Given the description of an element on the screen output the (x, y) to click on. 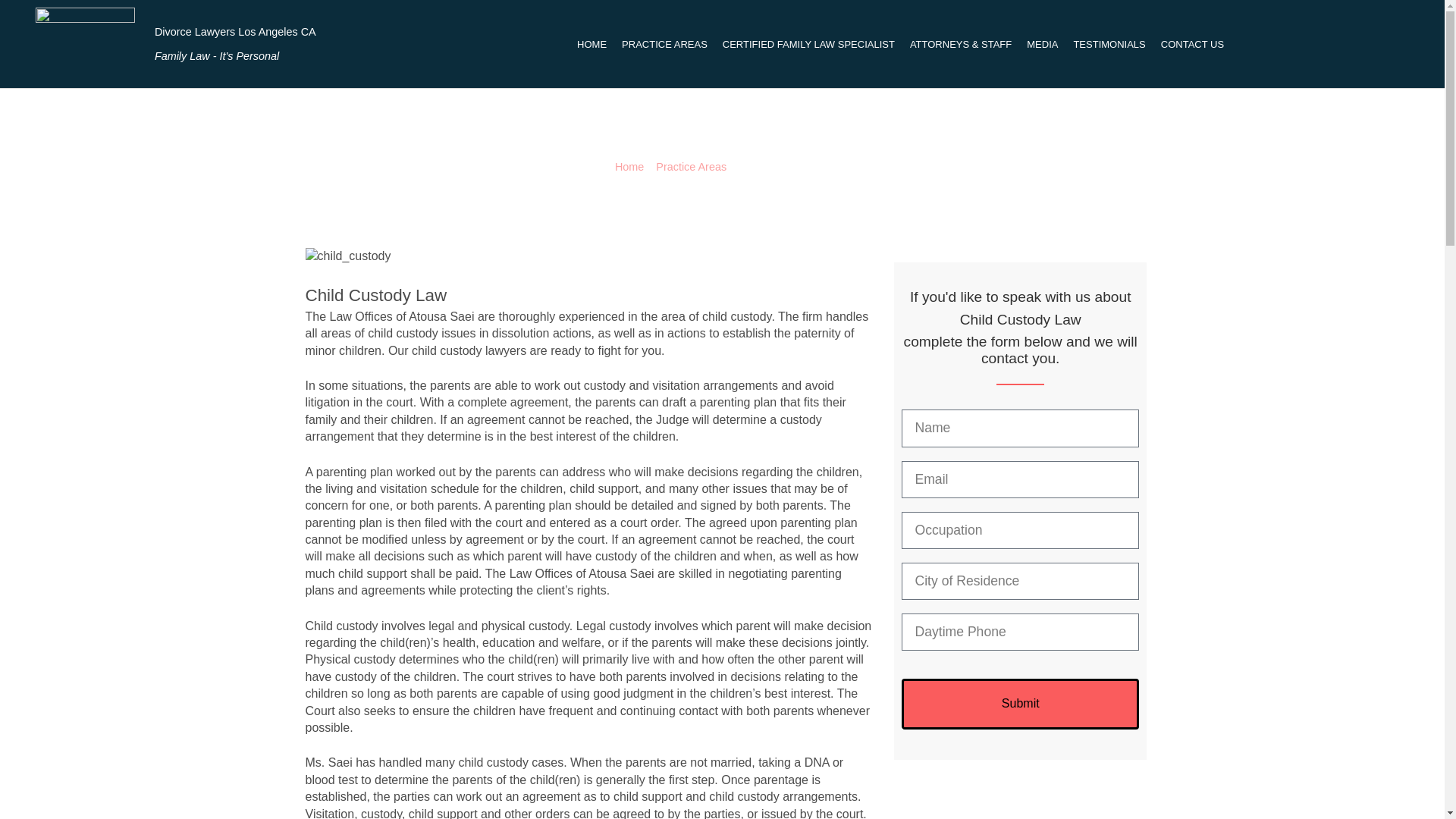
CONTACT US (1192, 44)
CERTIFIED FAMILY LAW SPECIALIST (808, 44)
PRACTICE AREAS (664, 44)
MEDIA (1042, 44)
TESTIMONIALS (1108, 44)
HOME (591, 44)
